Given the description of an element on the screen output the (x, y) to click on. 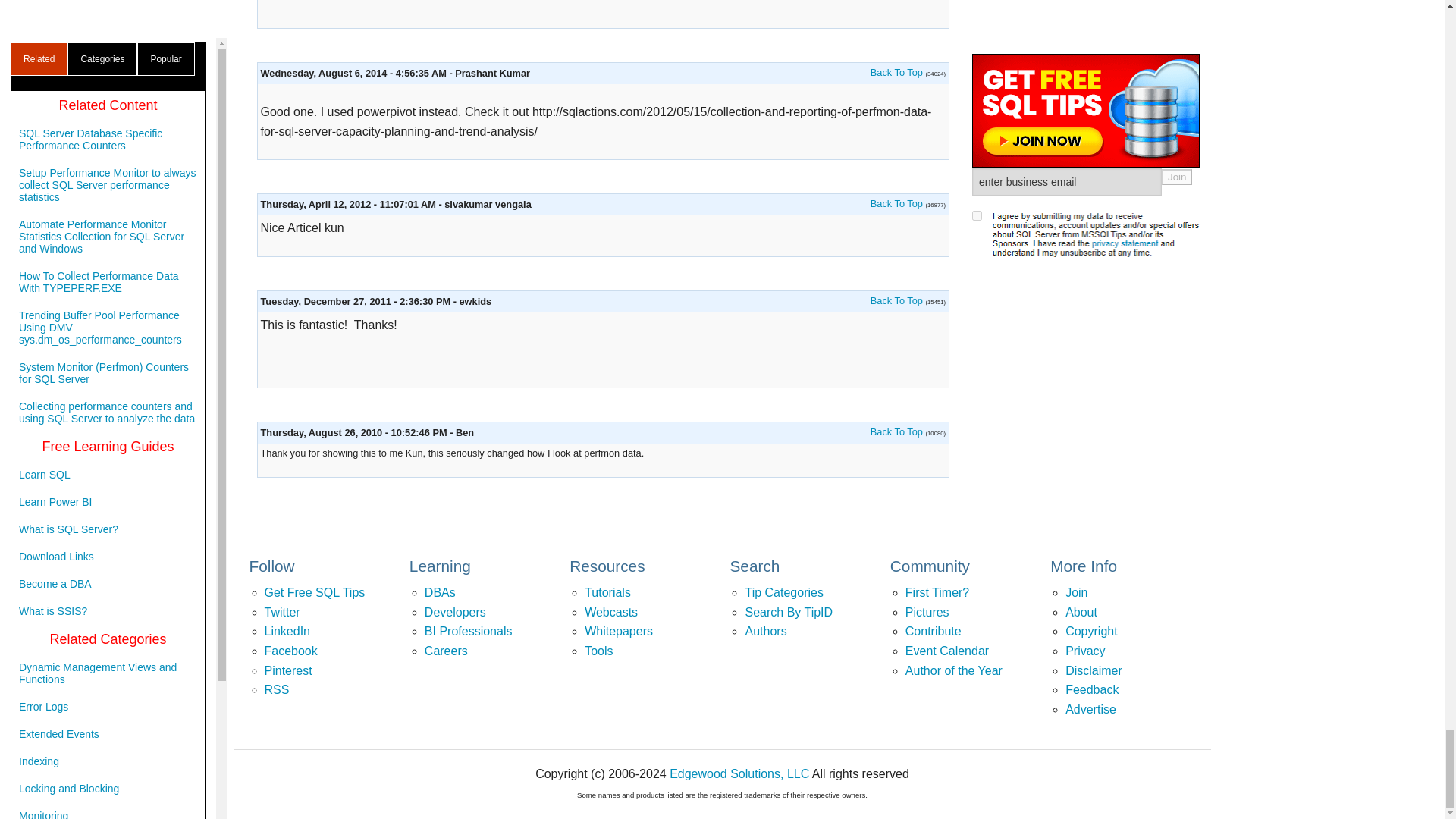
read the tip (896, 203)
read the tip (896, 71)
read the tip (896, 300)
read the tip (896, 431)
